Given the description of an element on the screen output the (x, y) to click on. 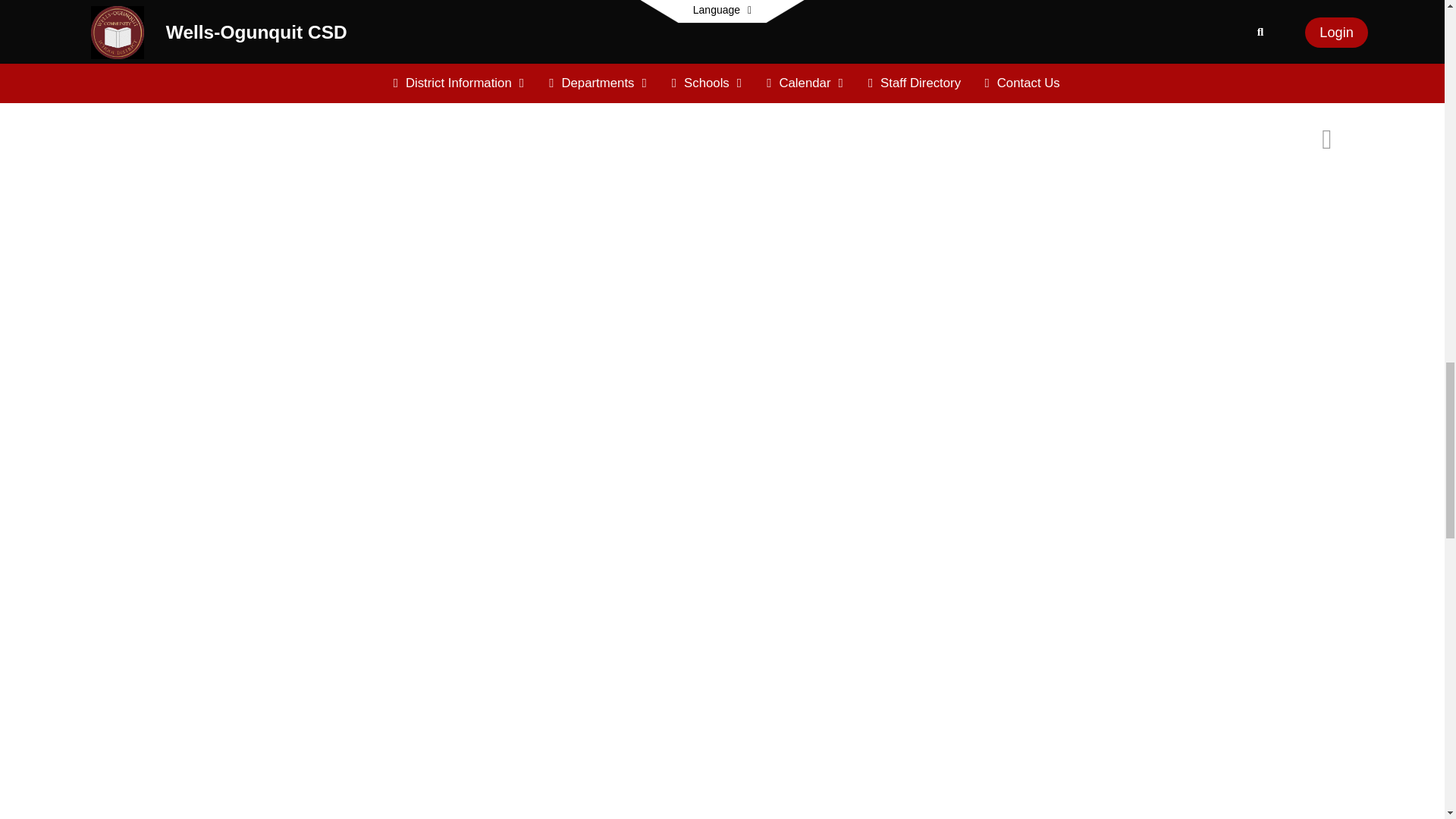
Wells Junior High School (623, 49)
Wells Elementary School (341, 49)
Wells High School (878, 49)
